Given the description of an element on the screen output the (x, y) to click on. 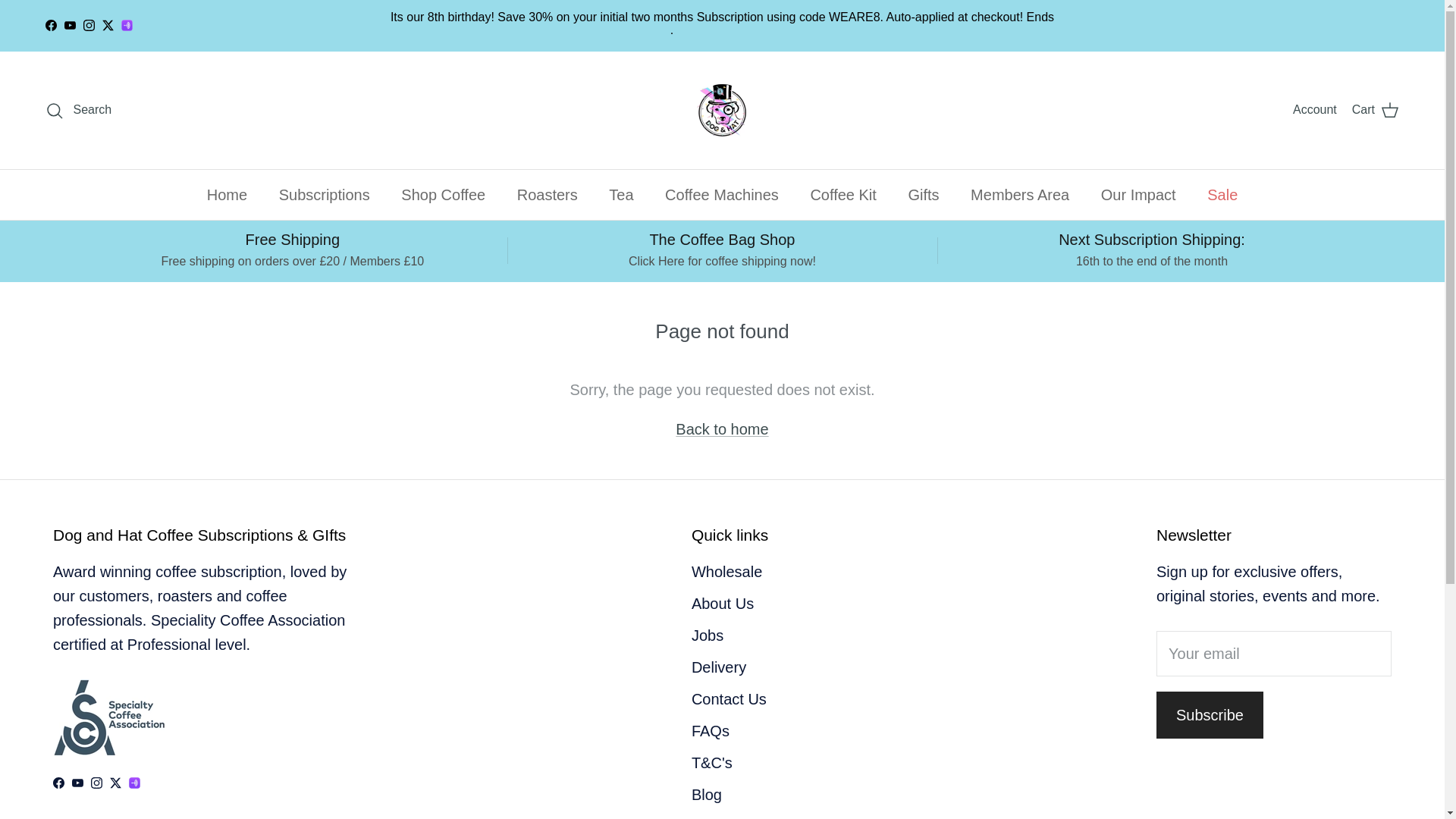
Home (226, 194)
Twitter (107, 25)
Tea (620, 194)
Shop Coffee (443, 194)
Cart (1375, 109)
Anchor Podcast (126, 25)
Account (1314, 109)
Roasters (547, 194)
Search (78, 109)
Subscriptions (324, 194)
